Given the description of an element on the screen output the (x, y) to click on. 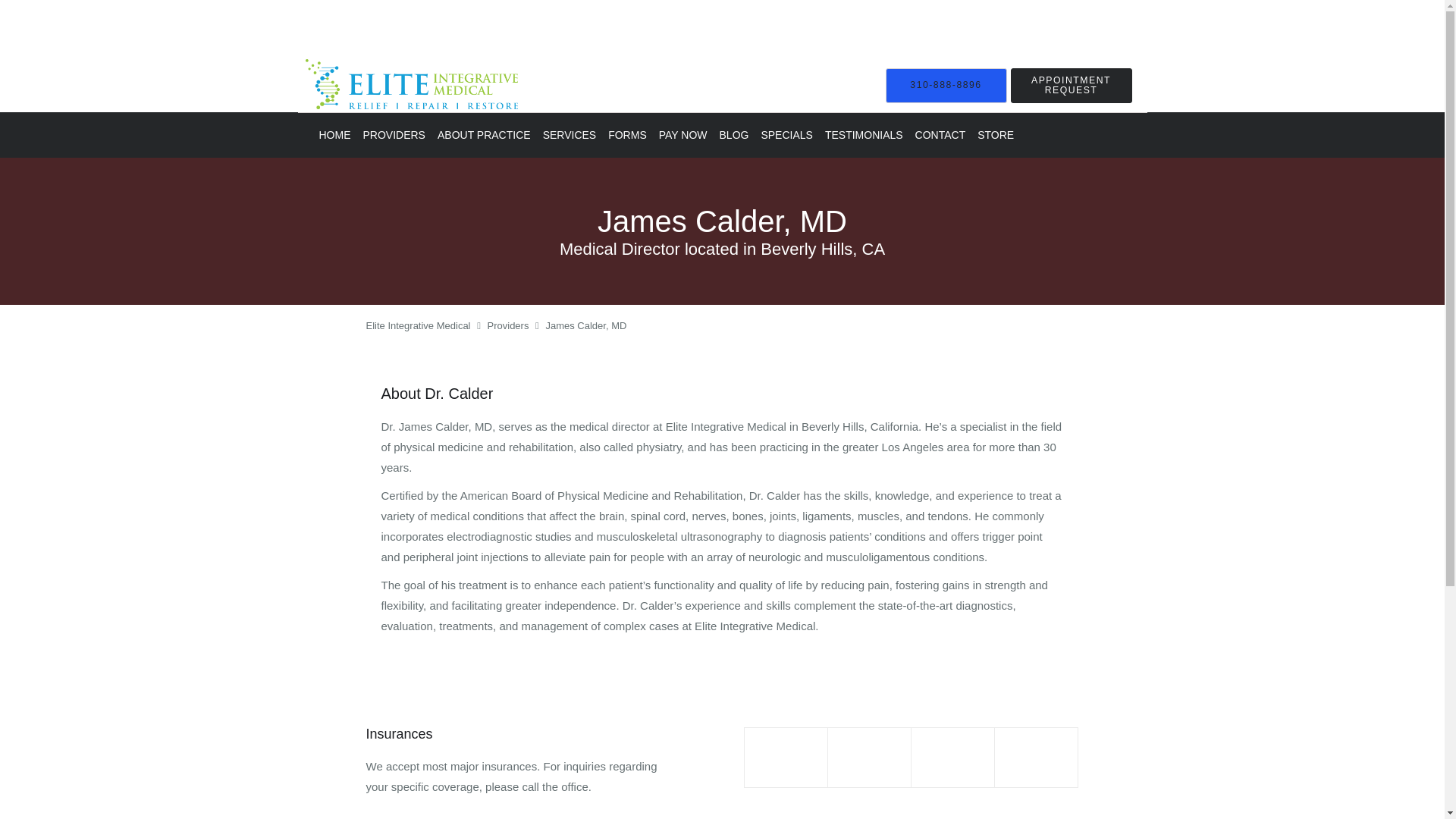
PROVIDERS (393, 135)
BLOG (734, 135)
ABOUT PRACTICE (483, 135)
CONTACT (940, 135)
SERVICES (569, 135)
Blue Cross Blue Shield (869, 757)
TESTIMONIALS (863, 135)
Cigna (952, 757)
STORE (995, 135)
APPOINTMENT REQUEST (1070, 85)
310-888-8896 (946, 85)
Providers (508, 325)
SPECIALS (786, 135)
Aetna (786, 757)
